Given the description of an element on the screen output the (x, y) to click on. 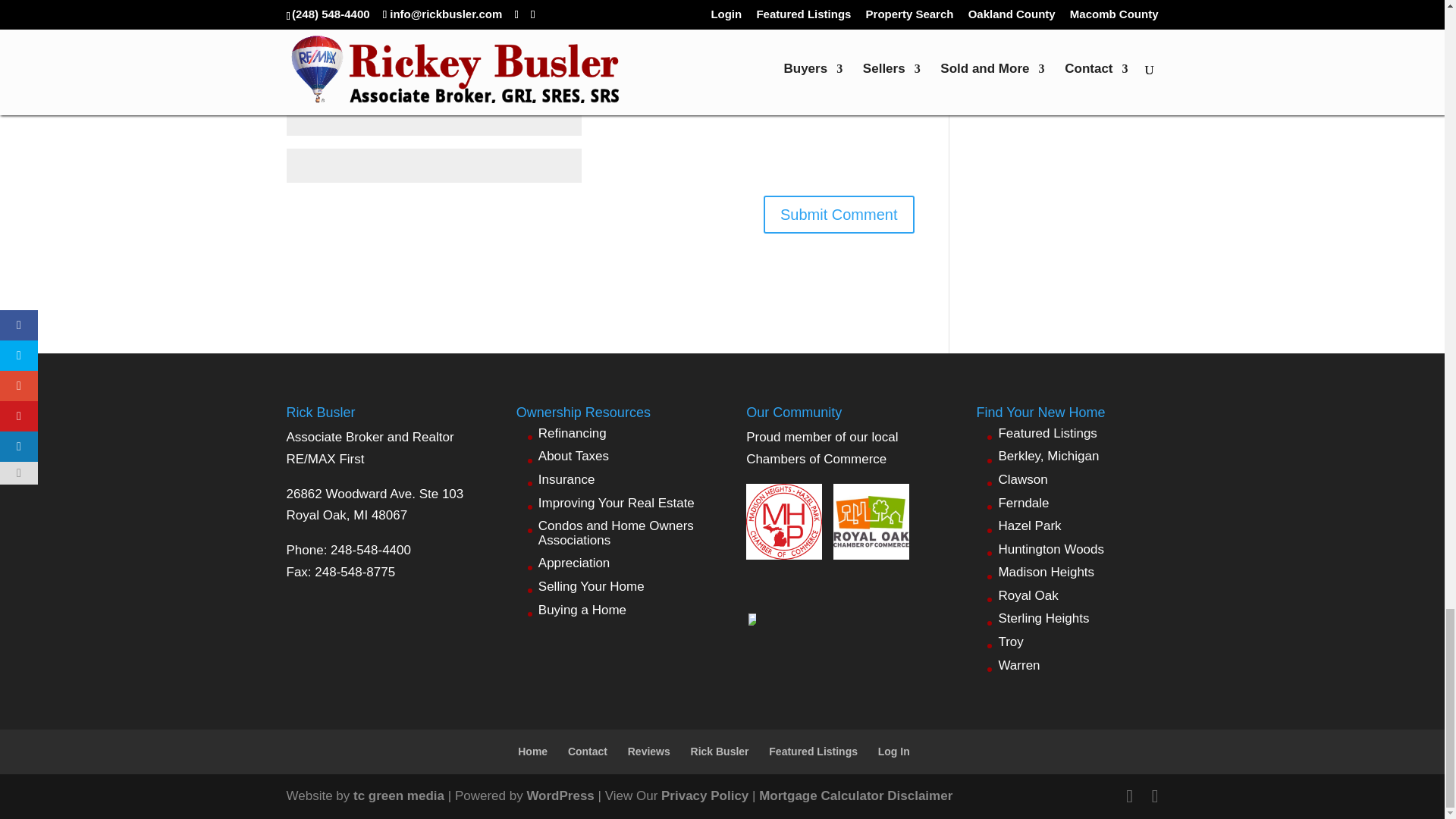
Submit Comment (838, 214)
